Given the description of an element on the screen output the (x, y) to click on. 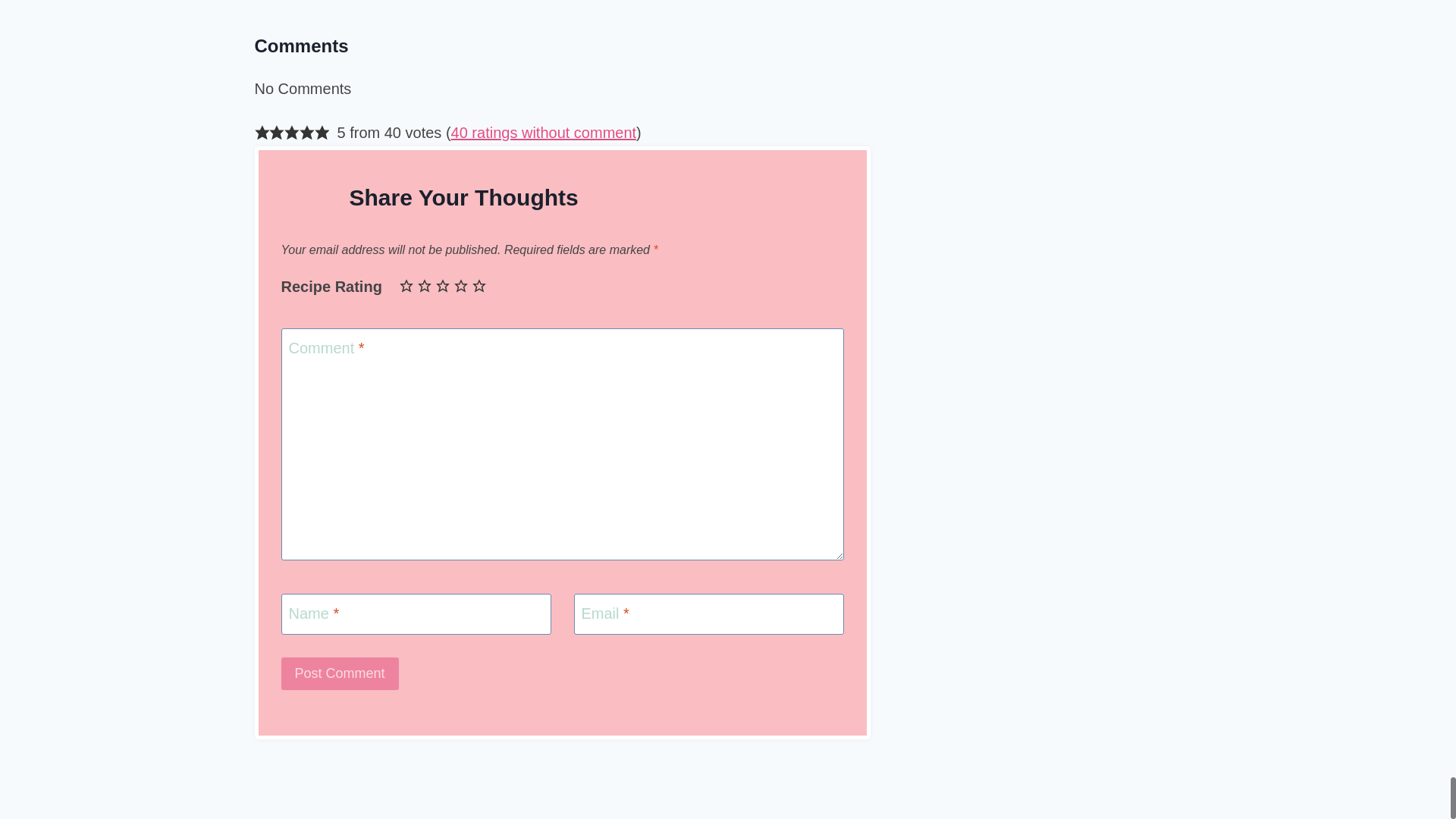
Post Comment (339, 673)
